Given the description of an element on the screen output the (x, y) to click on. 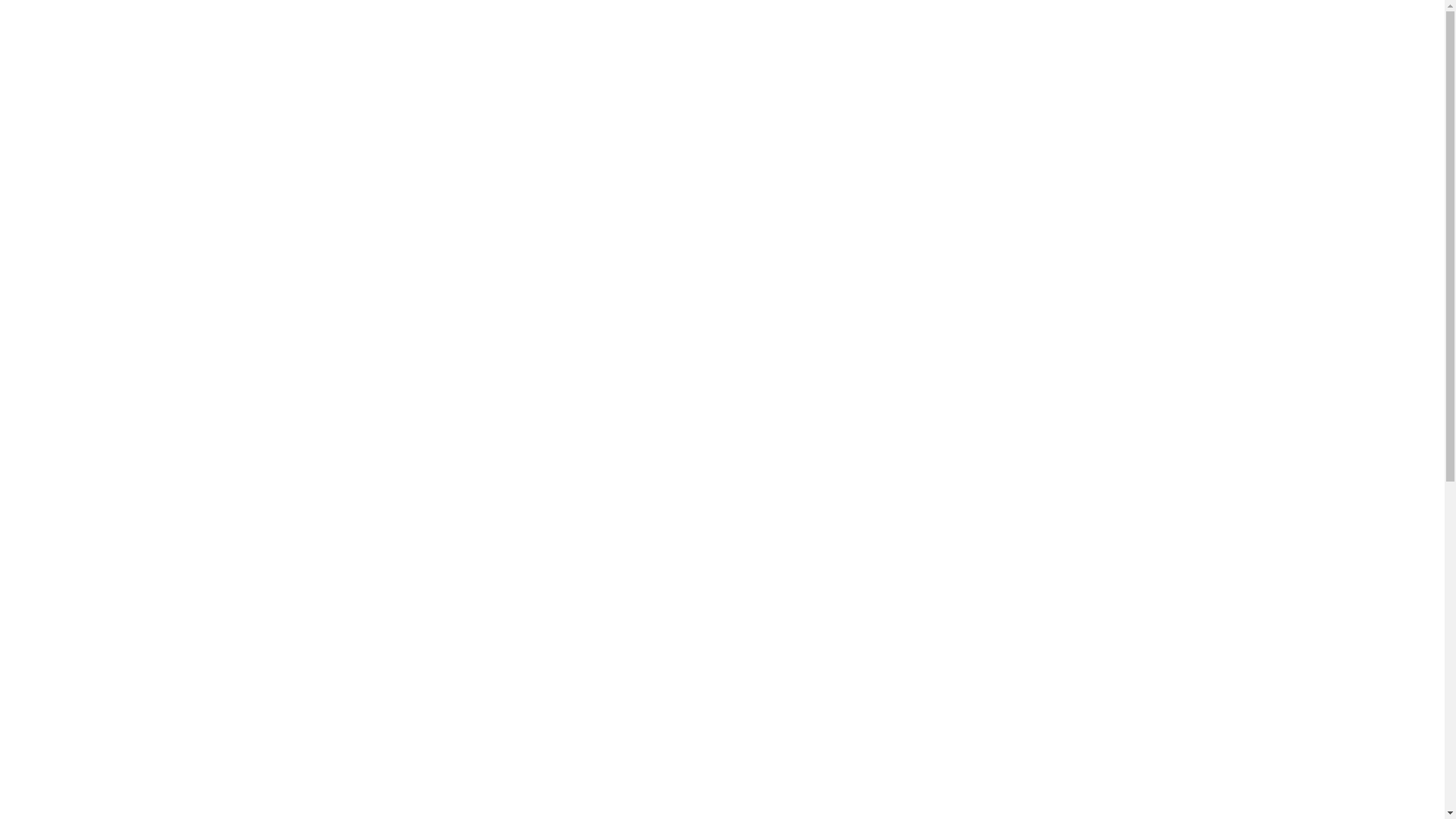
Gesucht Element type: text (49, 74)
Sponsoren Element type: text (55, 101)
Willkommen Element type: text (62, 18)
Kontakt Element type: text (49, 87)
Impressionen Element type: text (62, 46)
Login Element type: text (44, 115)
Agenda Element type: text (49, 59)
